Given the description of an element on the screen output the (x, y) to click on. 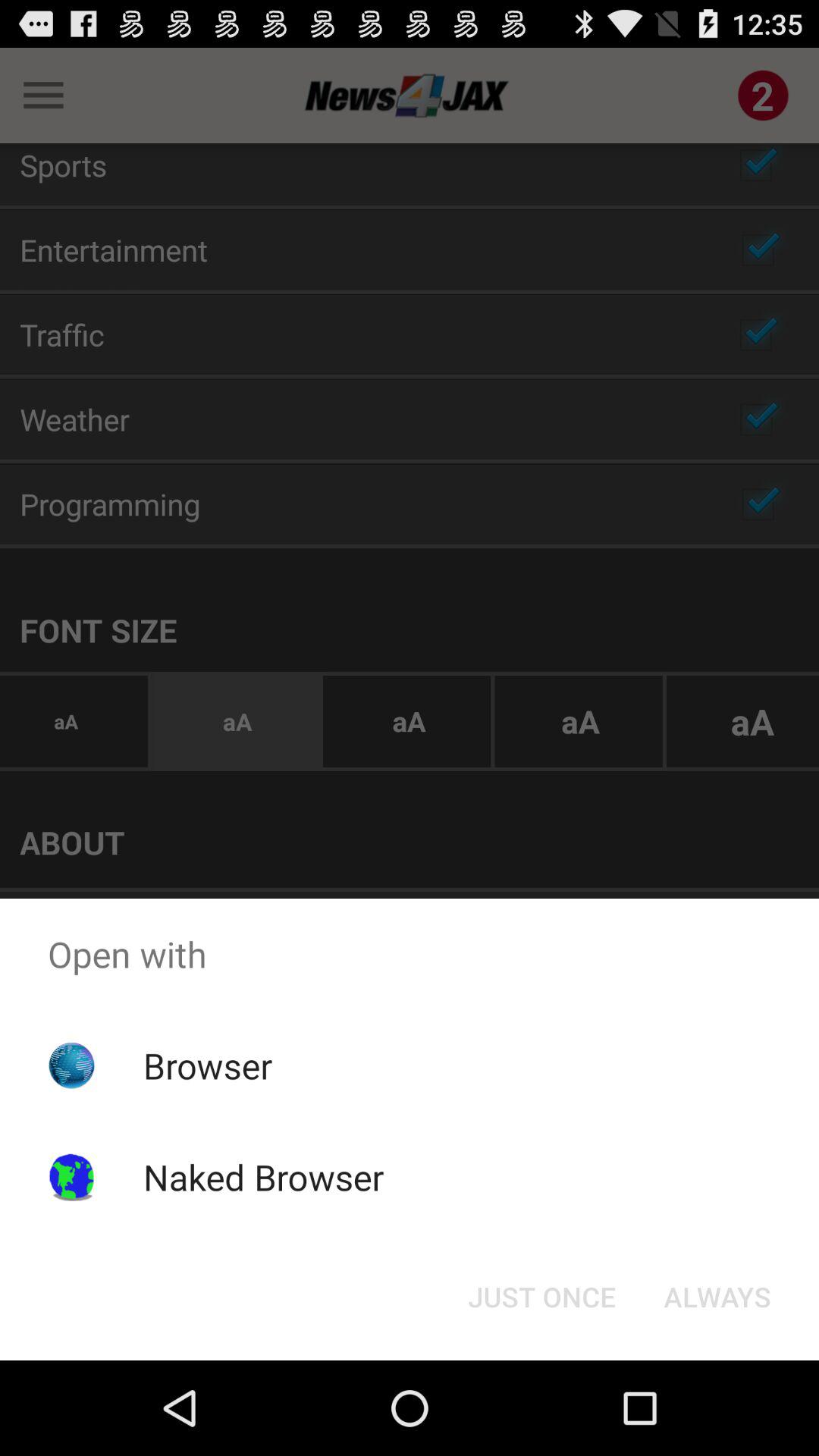
click the item next to just once button (717, 1296)
